Given the description of an element on the screen output the (x, y) to click on. 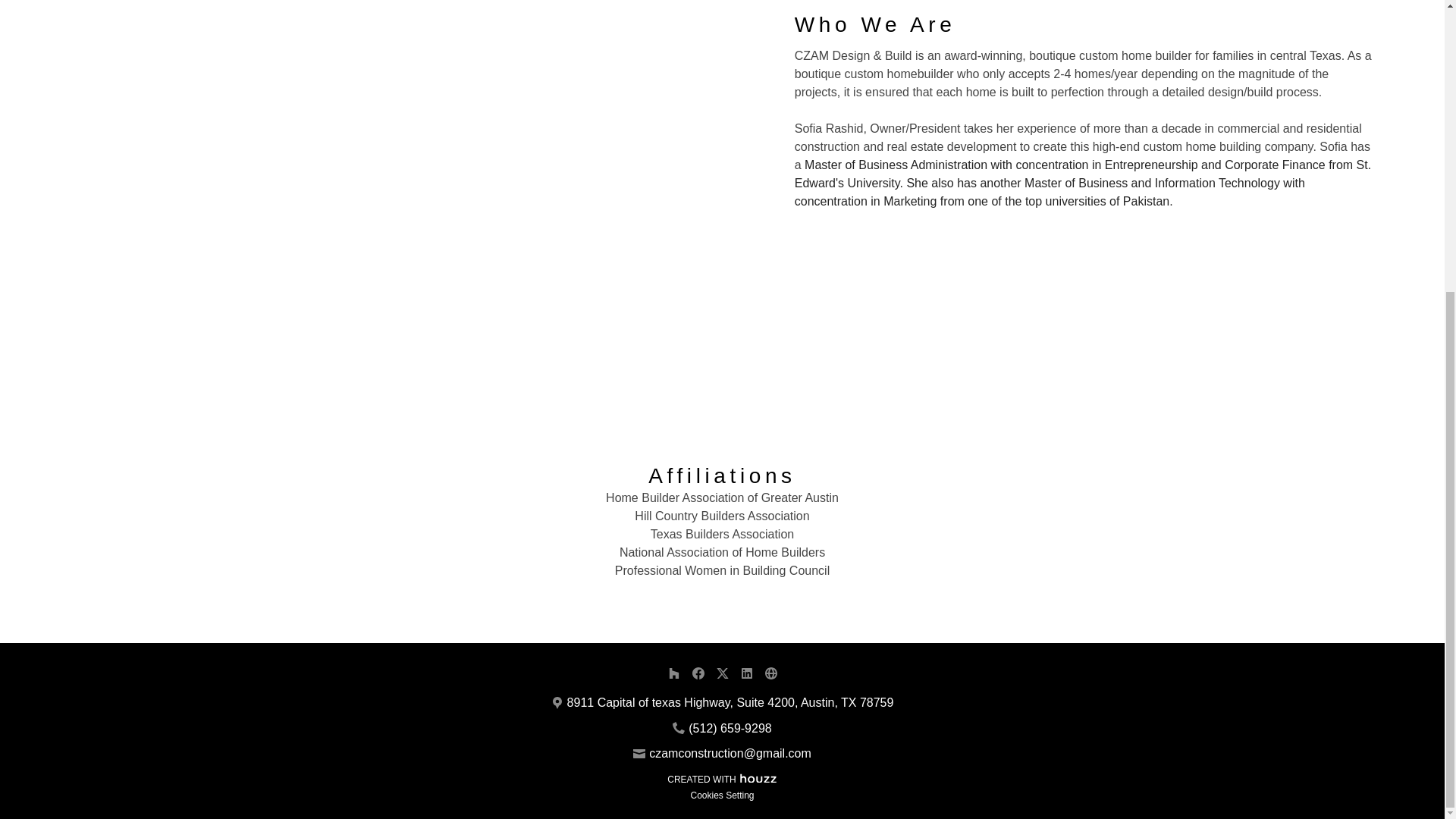
Cookies Setting (722, 795)
8911 Capital of texas Highway, Suite 4200, Austin, TX 78759 (730, 702)
CREATED WITHHouzz (722, 778)
Houzz (758, 776)
